Given the description of an element on the screen output the (x, y) to click on. 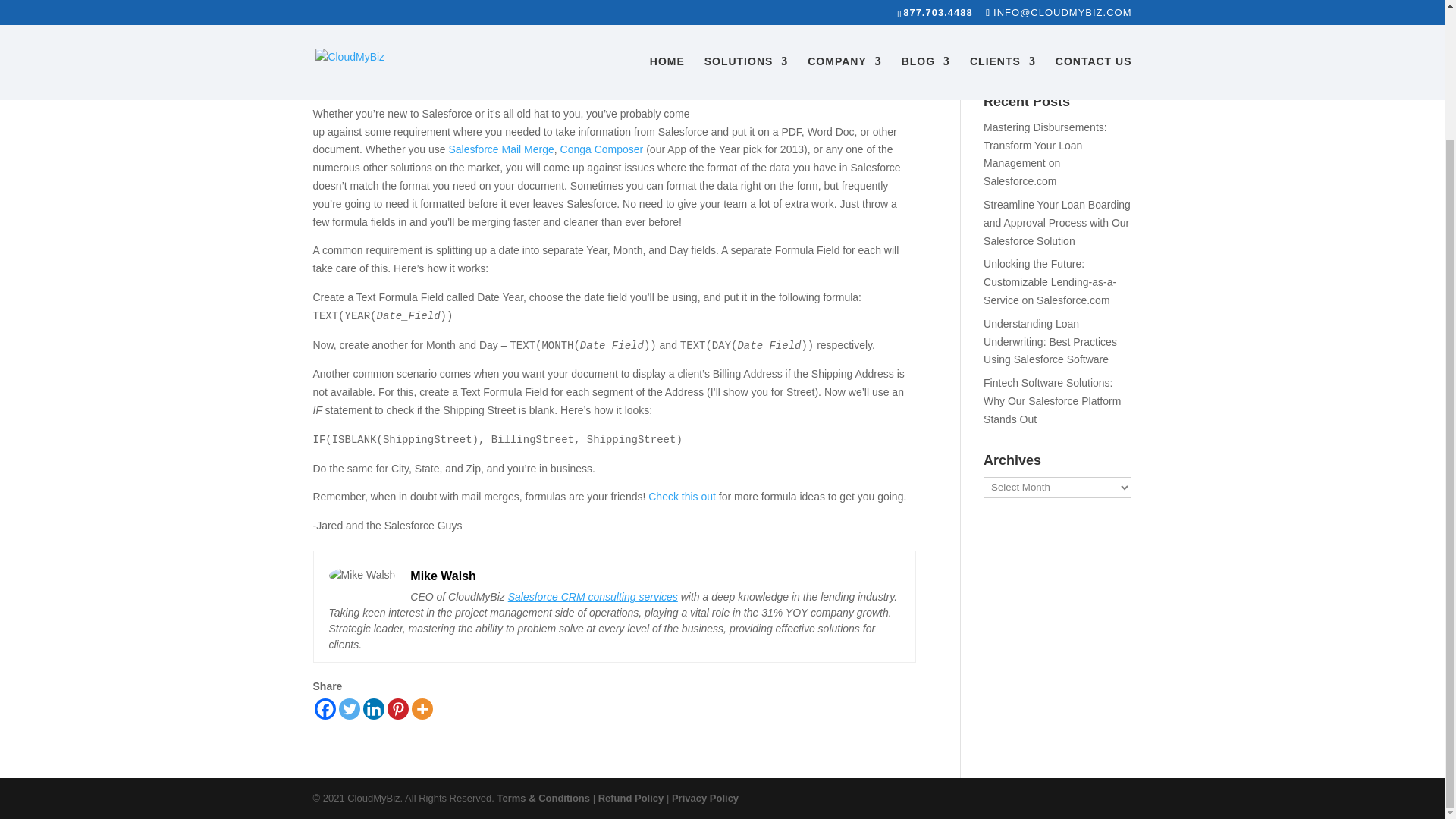
Check this out (681, 496)
Mike Walsh (353, 46)
Conga Composer (601, 149)
Salesforce Mail Merge (501, 149)
Search (1106, 0)
Facebook (324, 708)
Pinterest (397, 708)
Salesforce CRM consulting services (593, 596)
